Given the description of an element on the screen output the (x, y) to click on. 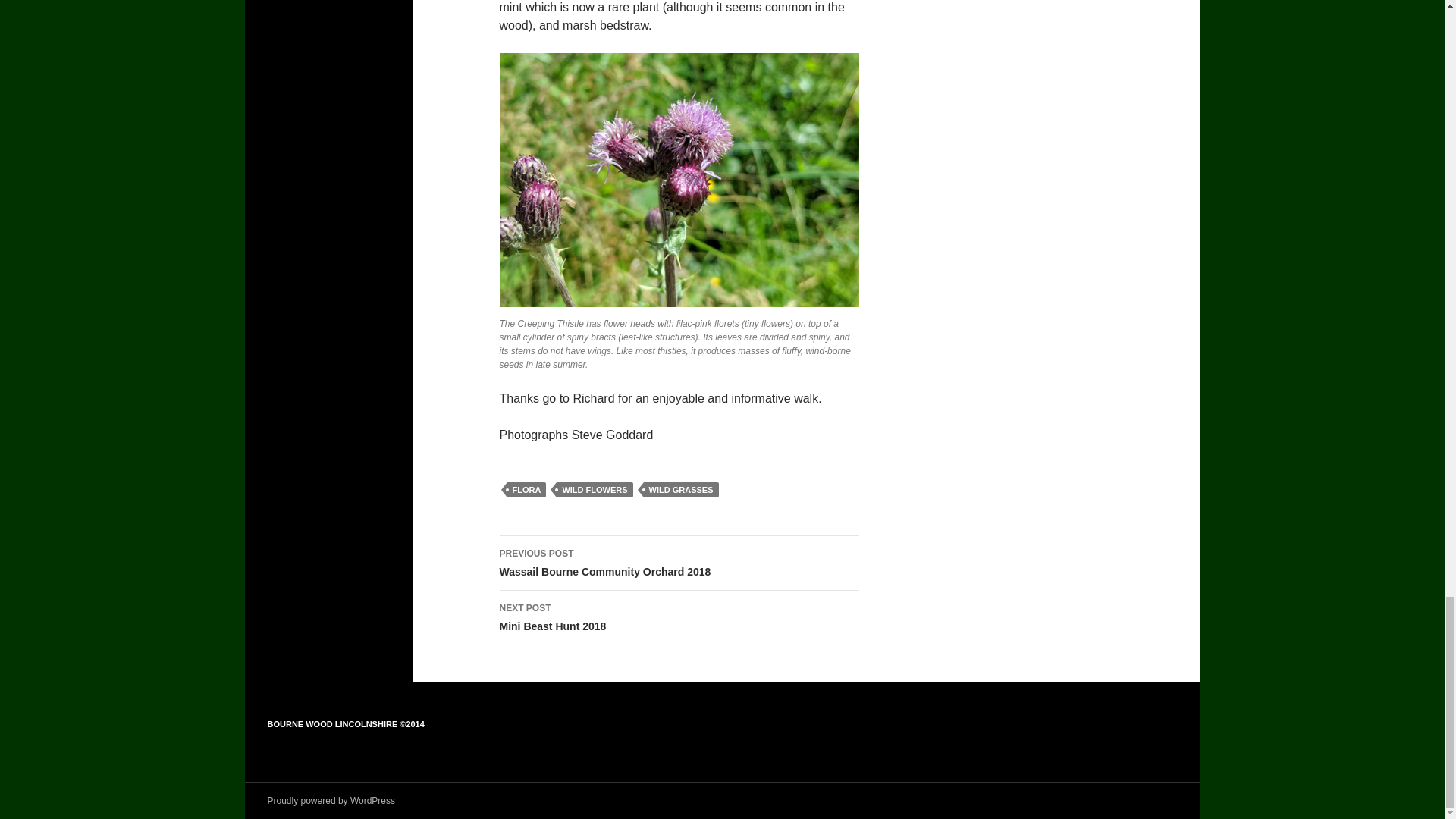
WILD GRASSES (681, 489)
FLORA (526, 489)
WILD FLOWERS (679, 617)
